Given the description of an element on the screen output the (x, y) to click on. 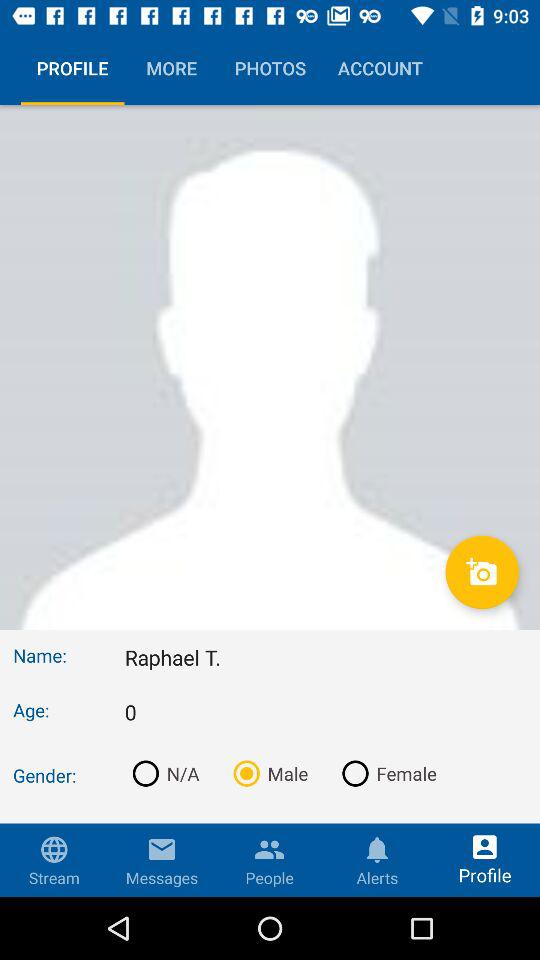
jump until the raphael t. icon (325, 657)
